Given the description of an element on the screen output the (x, y) to click on. 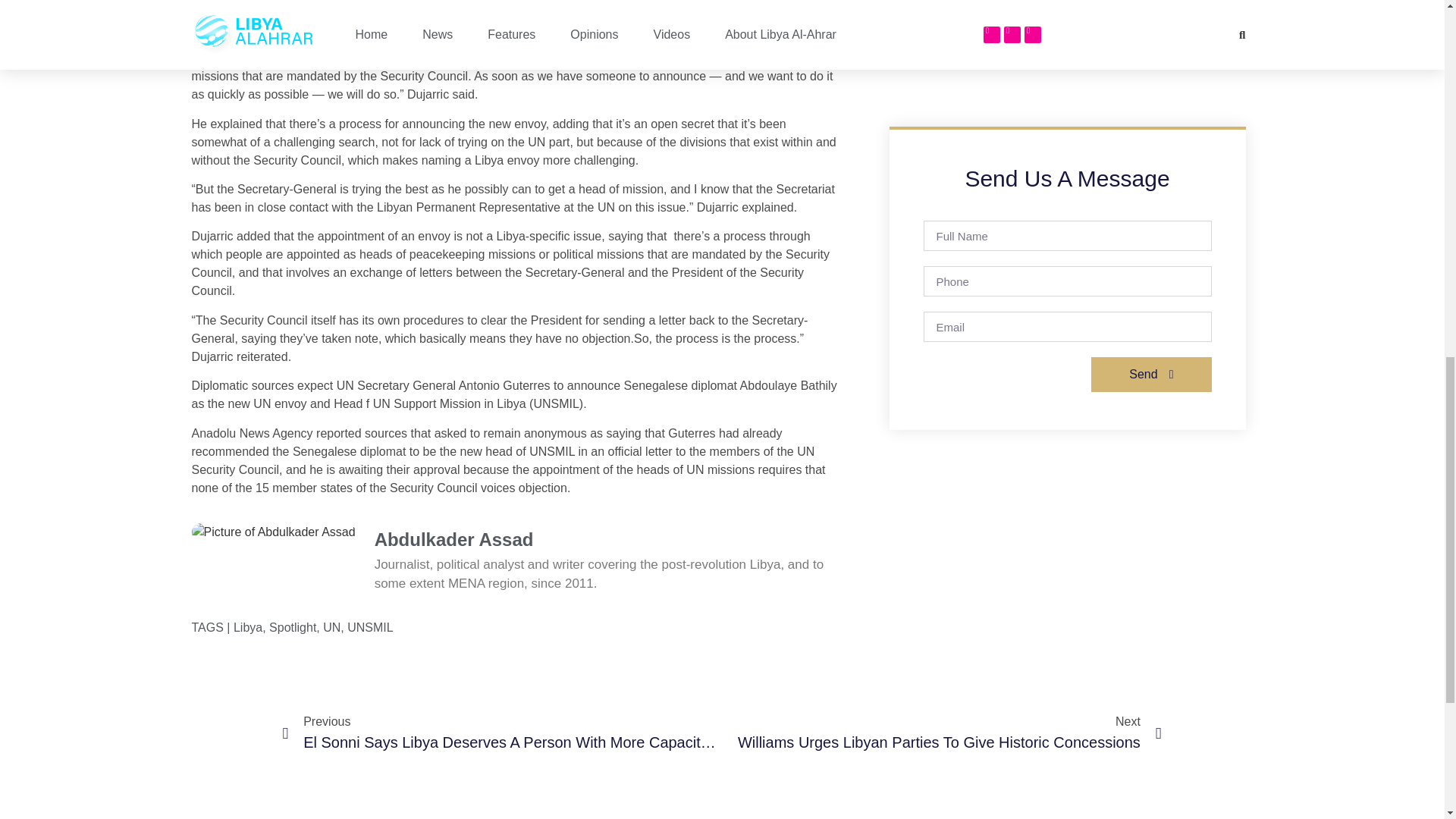
Libya (247, 626)
UN (331, 626)
Spotlight (292, 626)
UNSMIL (370, 626)
